Given the description of an element on the screen output the (x, y) to click on. 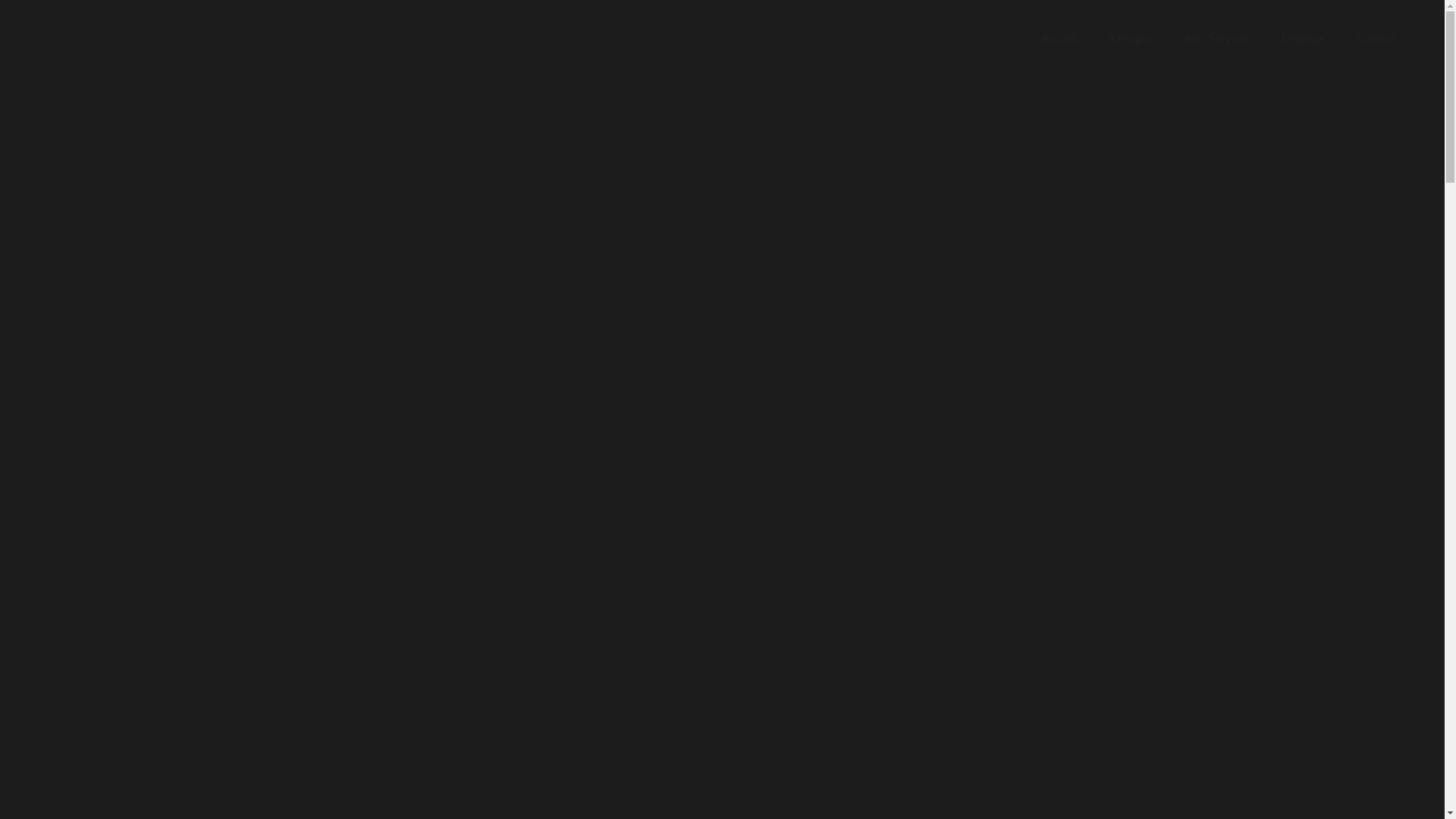
Contact Element type: text (1375, 37)
Accueil Element type: text (1059, 37)
Nos Services Element type: text (1218, 37)
A Propos Element type: text (1131, 37)
